Given the description of an element on the screen output the (x, y) to click on. 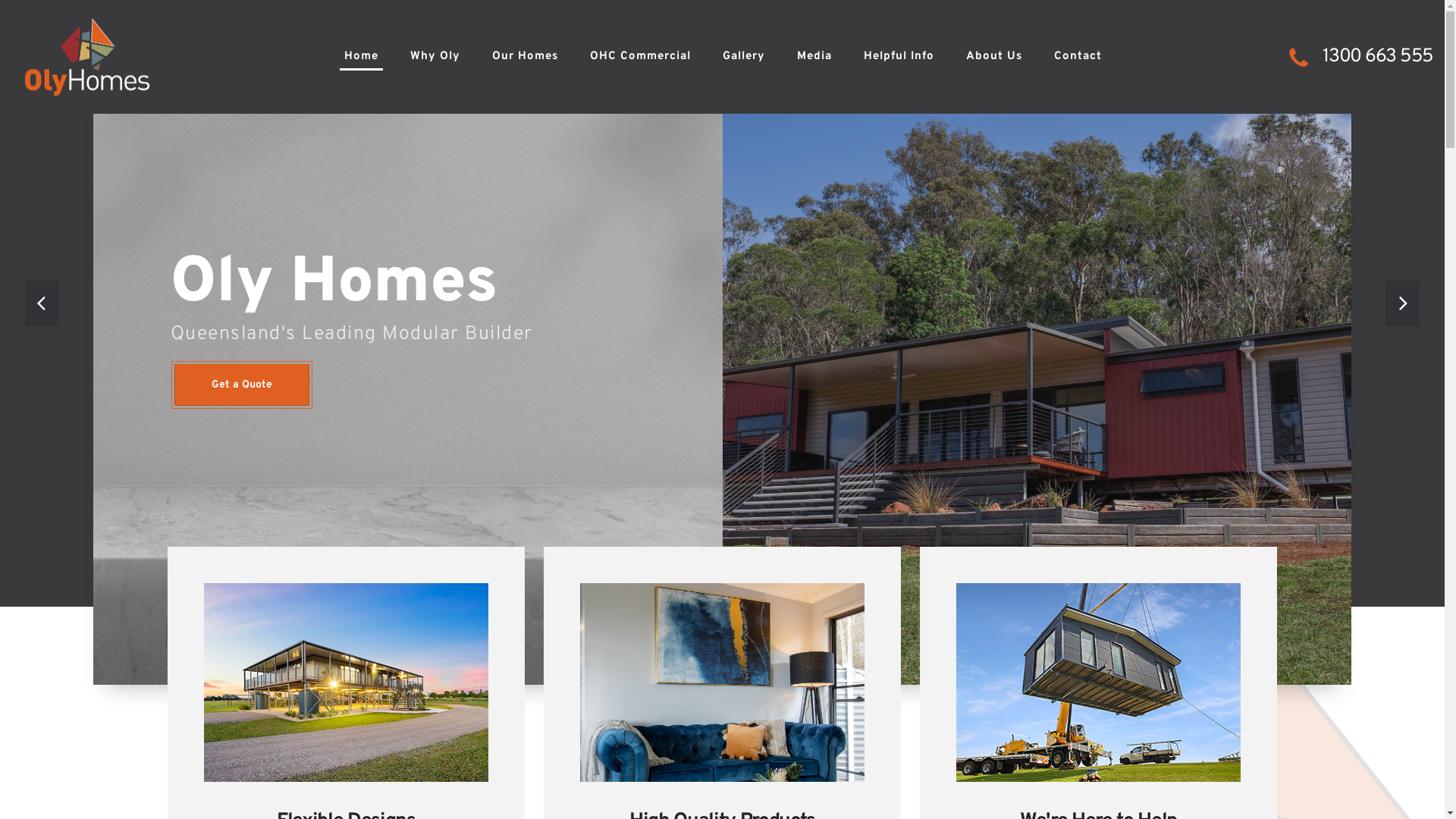
Helpful Info Element type: text (898, 56)
Why Oly Element type: text (435, 56)
Oly Homes - Queensland's Leading Modular Builder Element type: hover (87, 56)
Home Element type: text (361, 56)
Get a Quote Element type: text (241, 384)
Our Homes Element type: text (524, 56)
OHC Commercial Element type: text (640, 56)
Contact Element type: text (1077, 56)
Media Element type: text (814, 56)
Oly Element type: text (221, 284)
Gallery Element type: text (743, 56)
1300 663 555 Element type: text (1377, 56)
About Us Element type: text (993, 56)
